Given the description of an element on the screen output the (x, y) to click on. 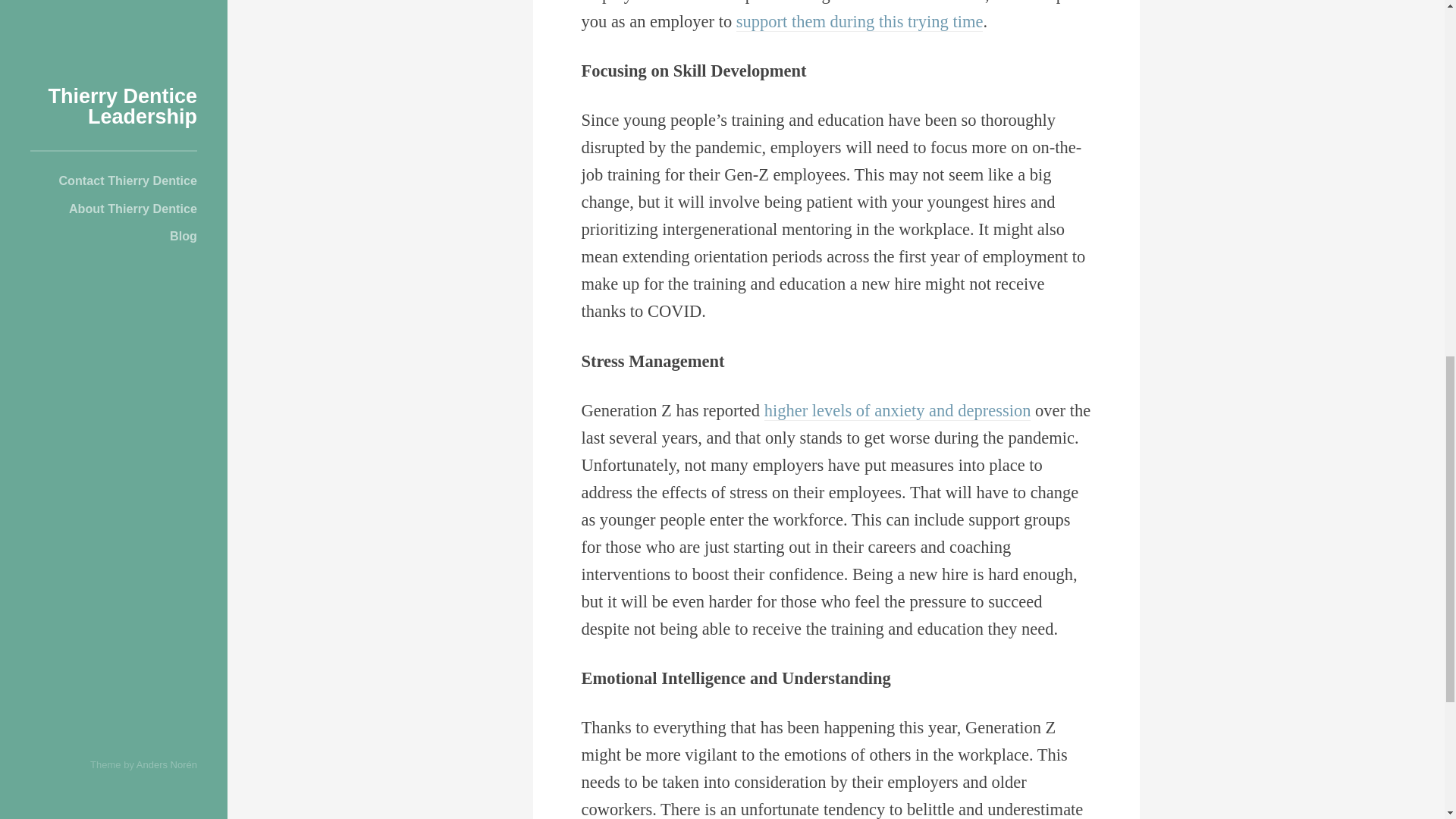
higher levels of anxiety and depression (897, 410)
support them during this trying time (860, 21)
